Given the description of an element on the screen output the (x, y) to click on. 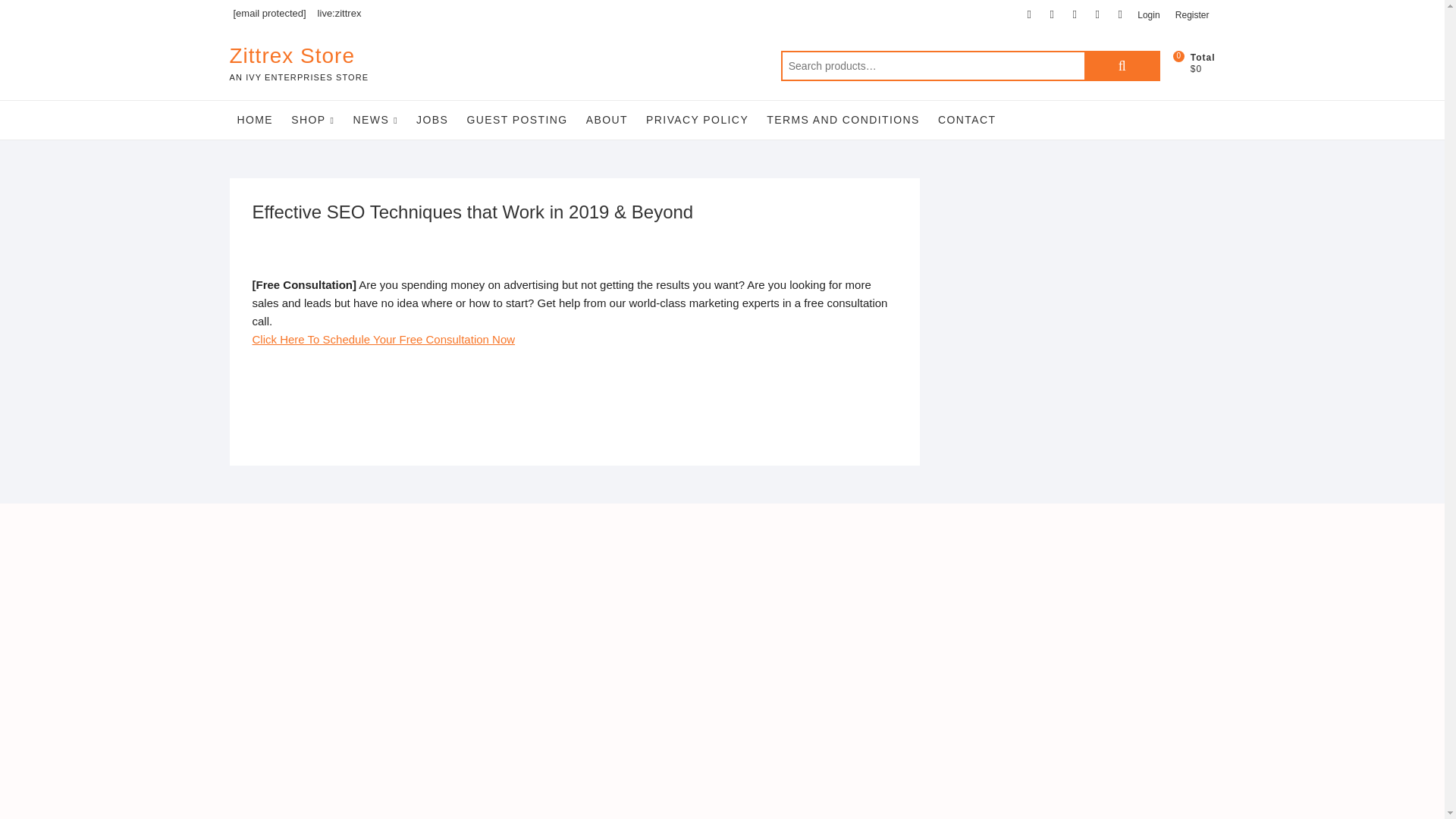
SHOP (312, 119)
Live chat (337, 13)
Mail Us (266, 13)
HOME (254, 119)
Login (1148, 15)
Zittrex Store (298, 55)
JOBS (432, 119)
Zittrex Store (298, 55)
linkedin (1119, 14)
Search (1122, 65)
live:zittrex (337, 13)
